Given the description of an element on the screen output the (x, y) to click on. 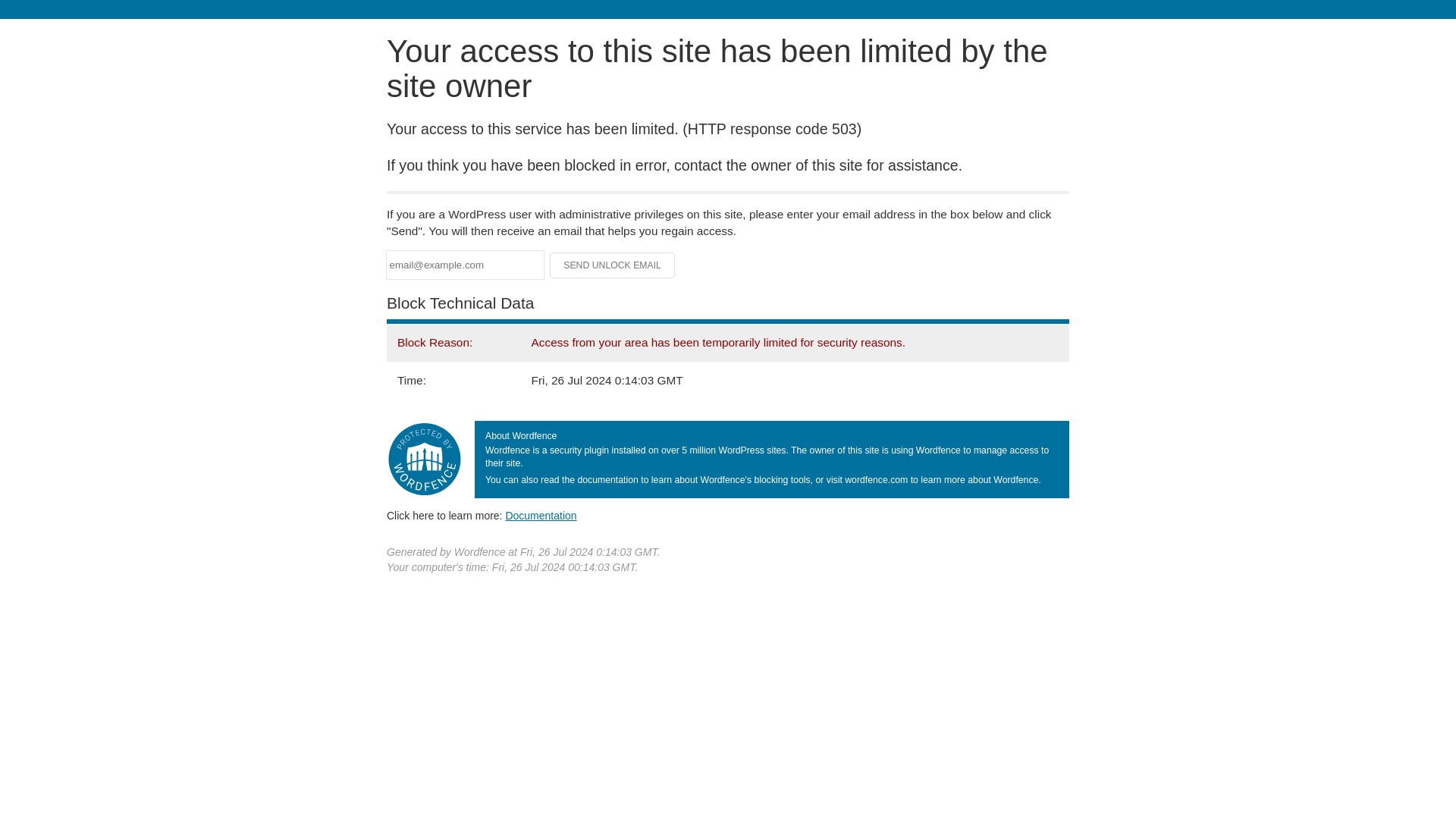
Send Unlock Email (612, 265)
Send Unlock Email (612, 265)
Documentation (540, 515)
